Given the description of an element on the screen output the (x, y) to click on. 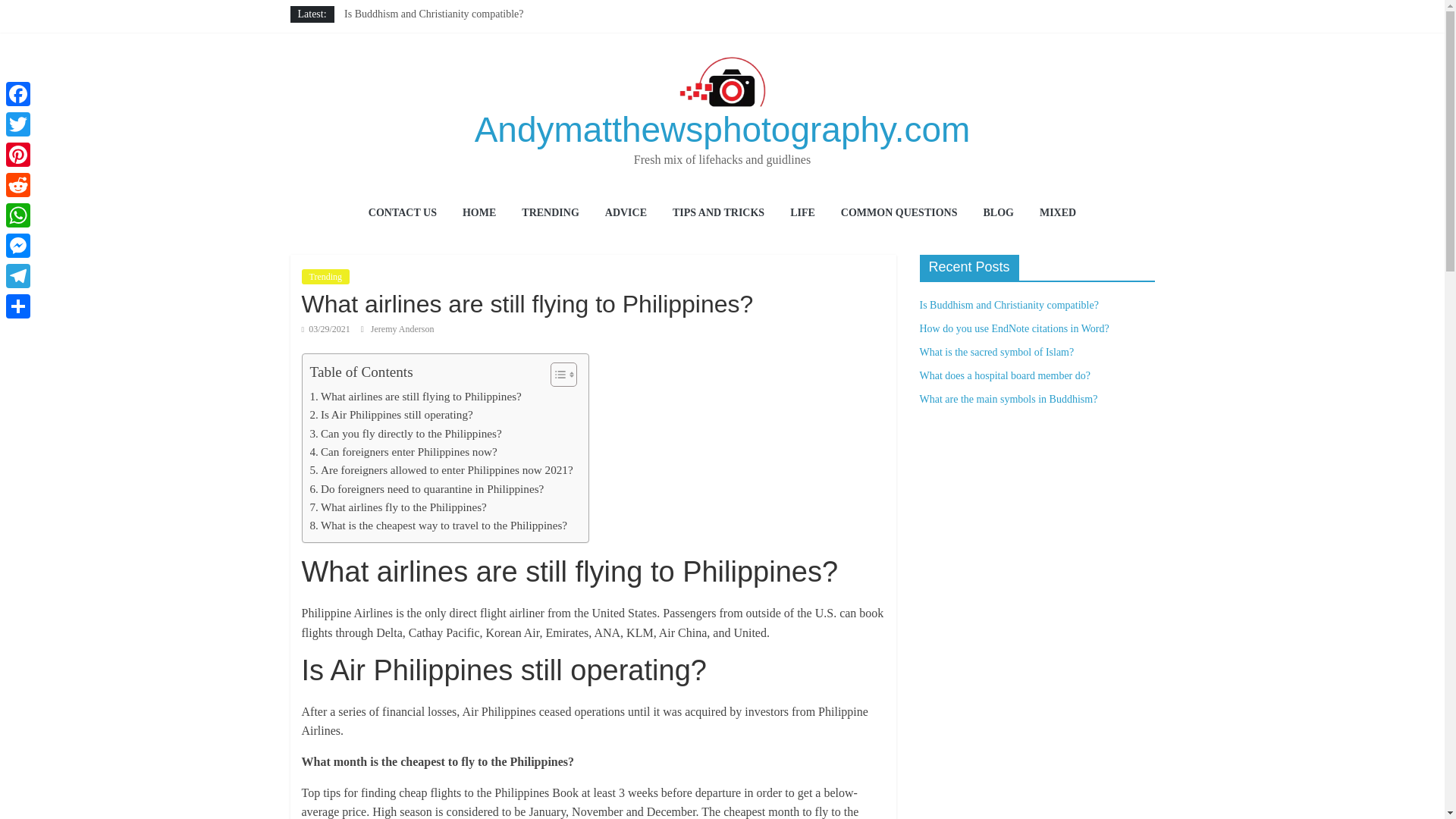
What is the sacred symbol of Islam? (421, 48)
Is Air Philippines still operating? (389, 414)
Trending (325, 276)
Andymatthewsphotography.com (722, 129)
Are foreigners allowed to enter Philippines now 2021? (440, 470)
What are the main symbols in Buddhism? (432, 81)
TIPS AND TRICKS (718, 213)
Jeremy Anderson (402, 328)
Are foreigners allowed to enter Philippines now 2021? (440, 470)
ADVICE (626, 213)
00:00 (325, 328)
How do you use EndNote citations in Word? (438, 30)
What are the main symbols in Buddhism? (432, 81)
TRENDING (550, 213)
Is Air Philippines still operating? (389, 414)
